Given the description of an element on the screen output the (x, y) to click on. 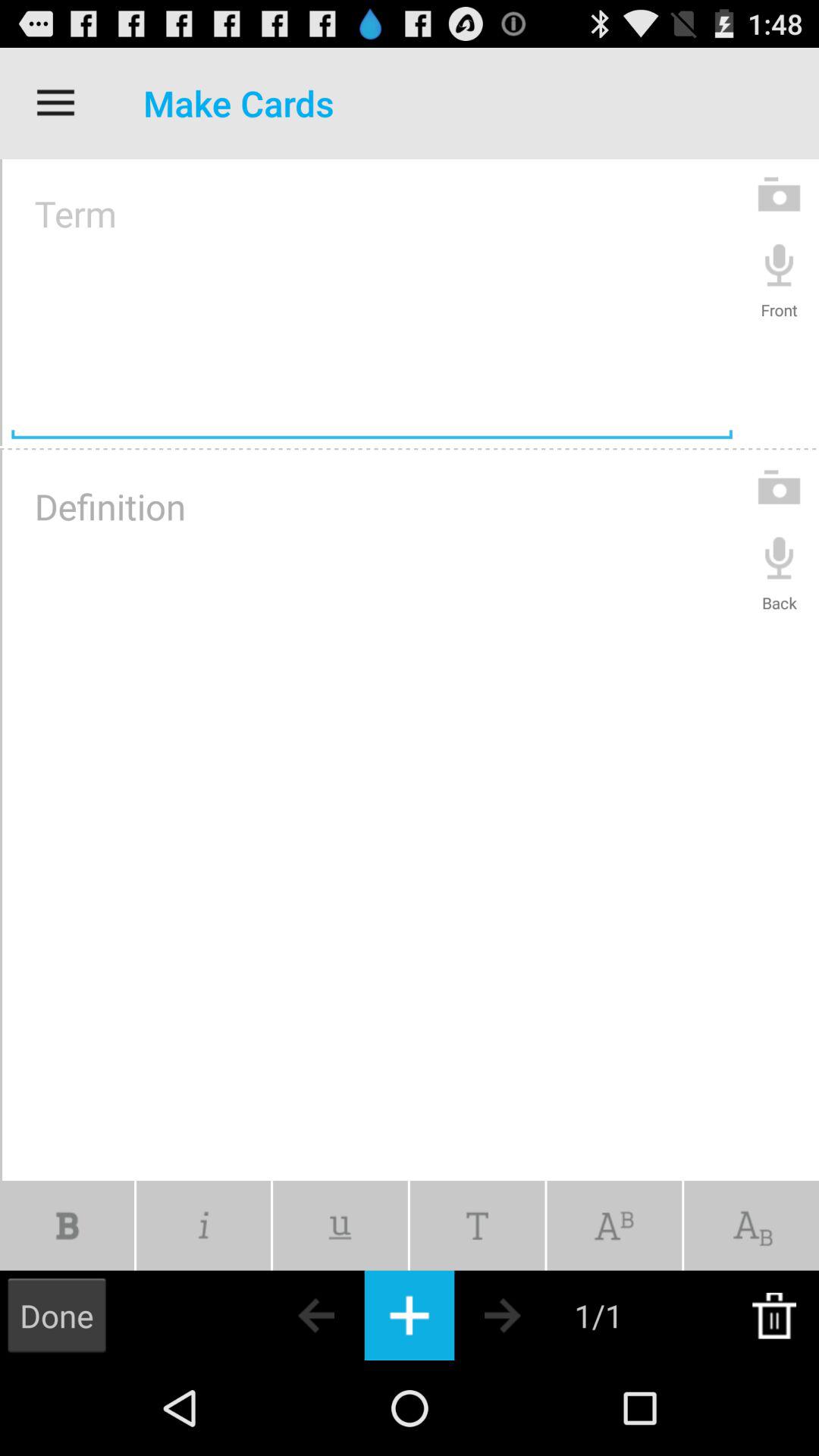
recording speaker (779, 557)
